Given the description of an element on the screen output the (x, y) to click on. 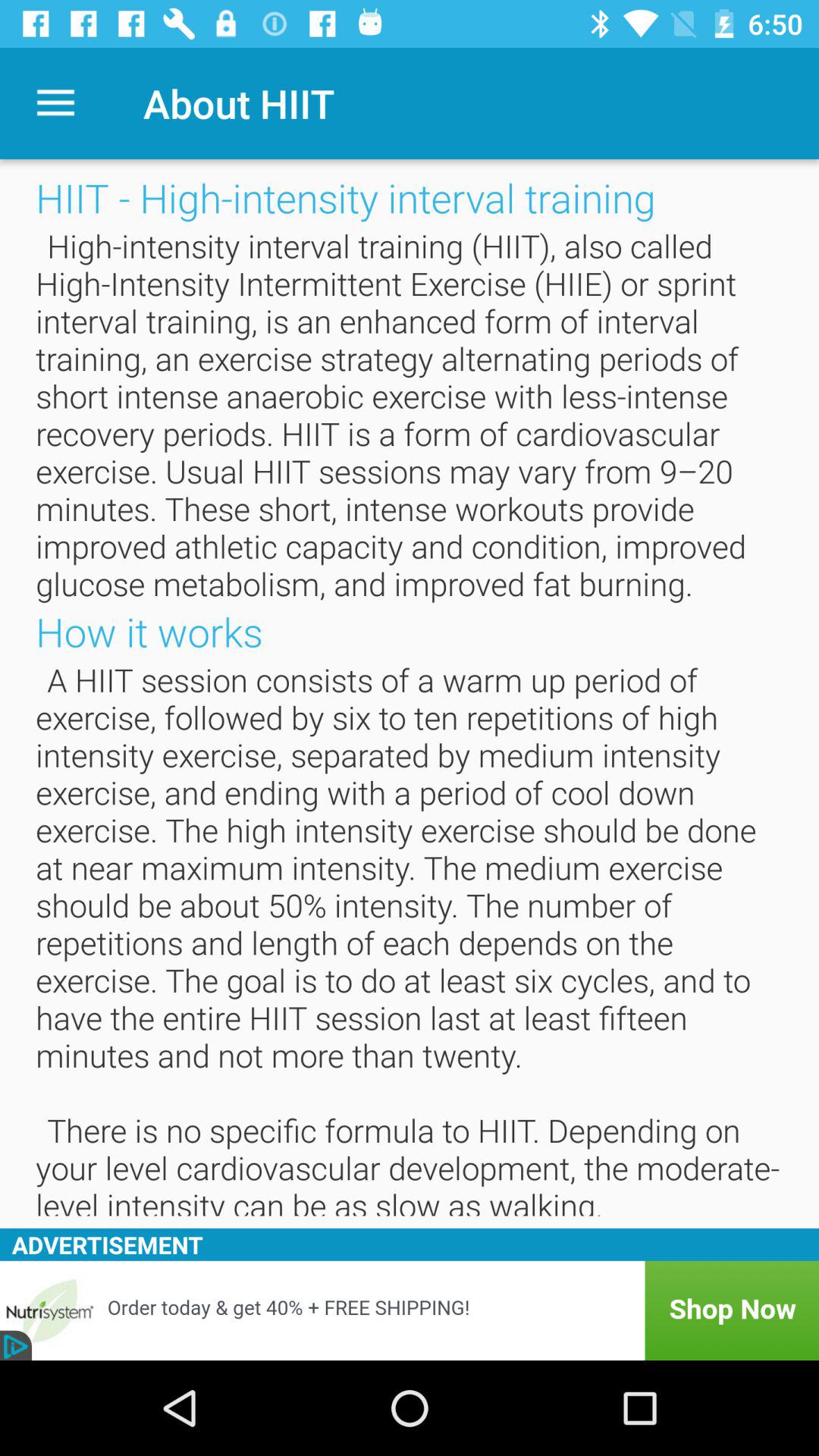
turn on the icon above hiit high intensity (55, 103)
